Given the description of an element on the screen output the (x, y) to click on. 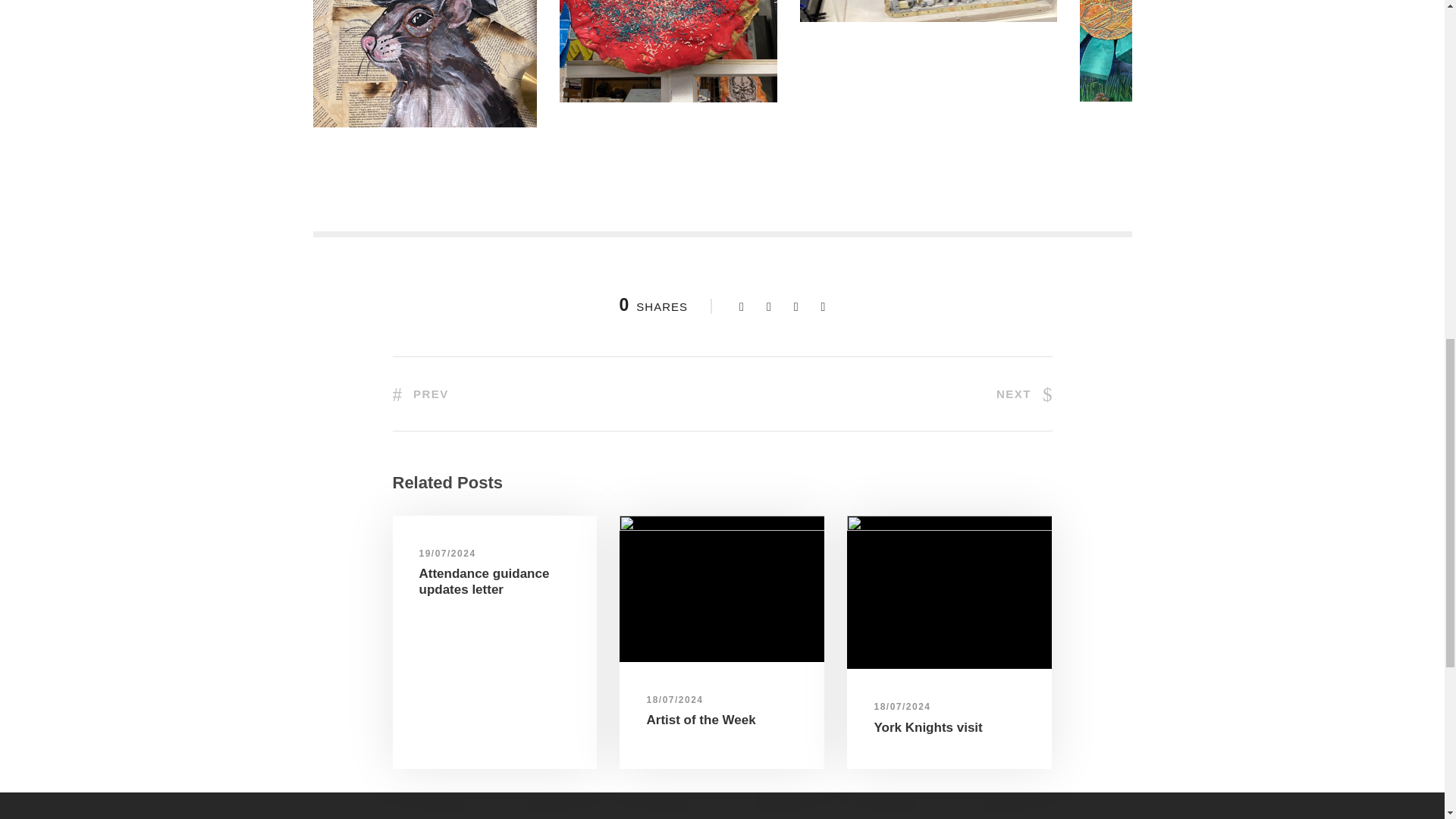
Picture1 (424, 63)
Picture 1 (722, 588)
Picture3 (928, 11)
image006 (949, 592)
Picture2 (668, 51)
Picture4 (1191, 50)
